Given the description of an element on the screen output the (x, y) to click on. 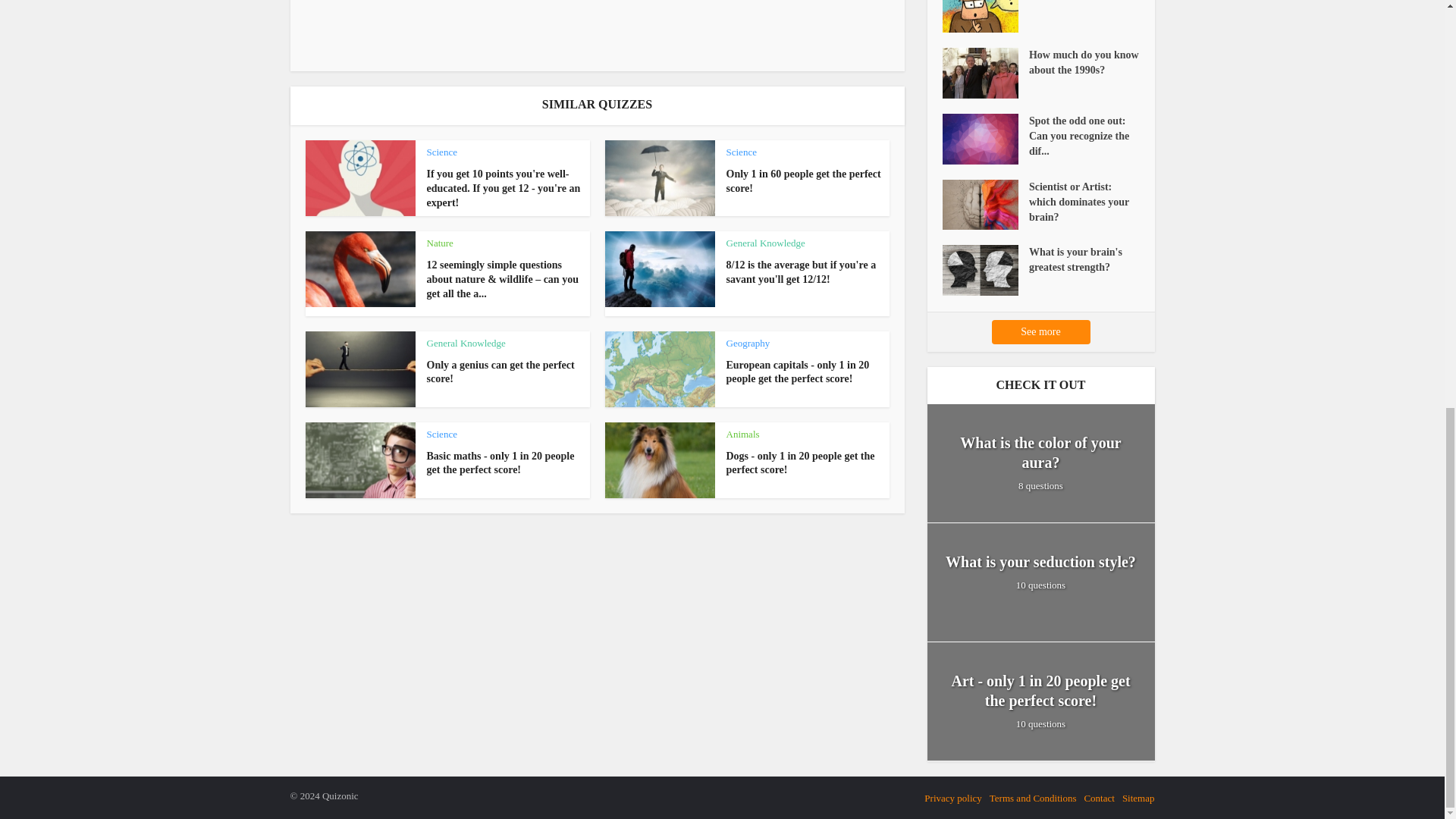
Only 1 in 60 people get the perfect score! (803, 181)
Easy? Think twice! (984, 16)
Science (441, 152)
Only a genius can get the perfect score! (499, 371)
Basic maths - only 1 in 20 people get the perfect score! (499, 462)
Science (741, 152)
Dogs - only 1 in 20 people get the perfect score! (800, 462)
Only 1 in 60 people get the perfect score! (803, 181)
